Given the description of an element on the screen output the (x, y) to click on. 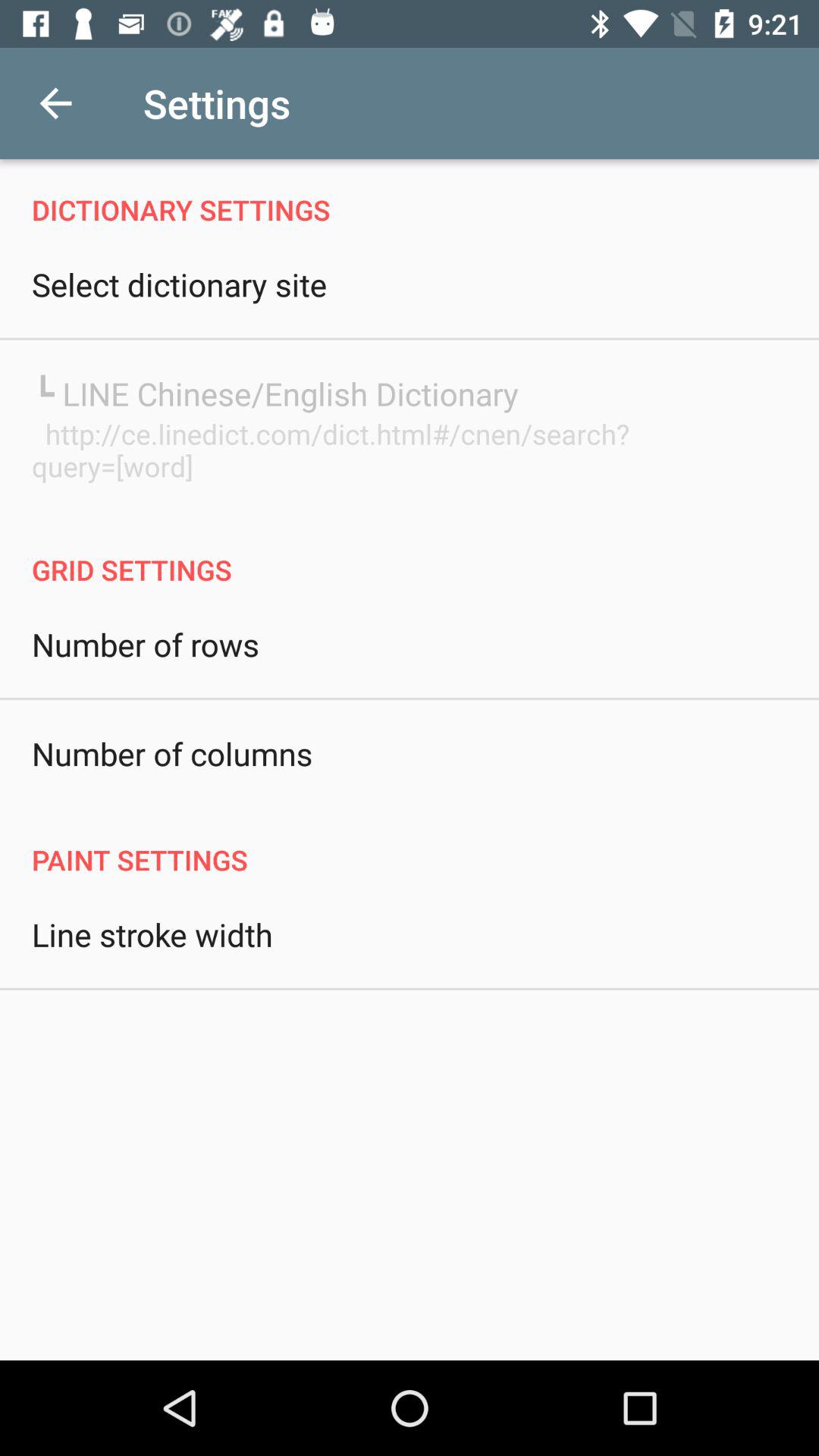
scroll to the http ce linedict item (409, 450)
